Given the description of an element on the screen output the (x, y) to click on. 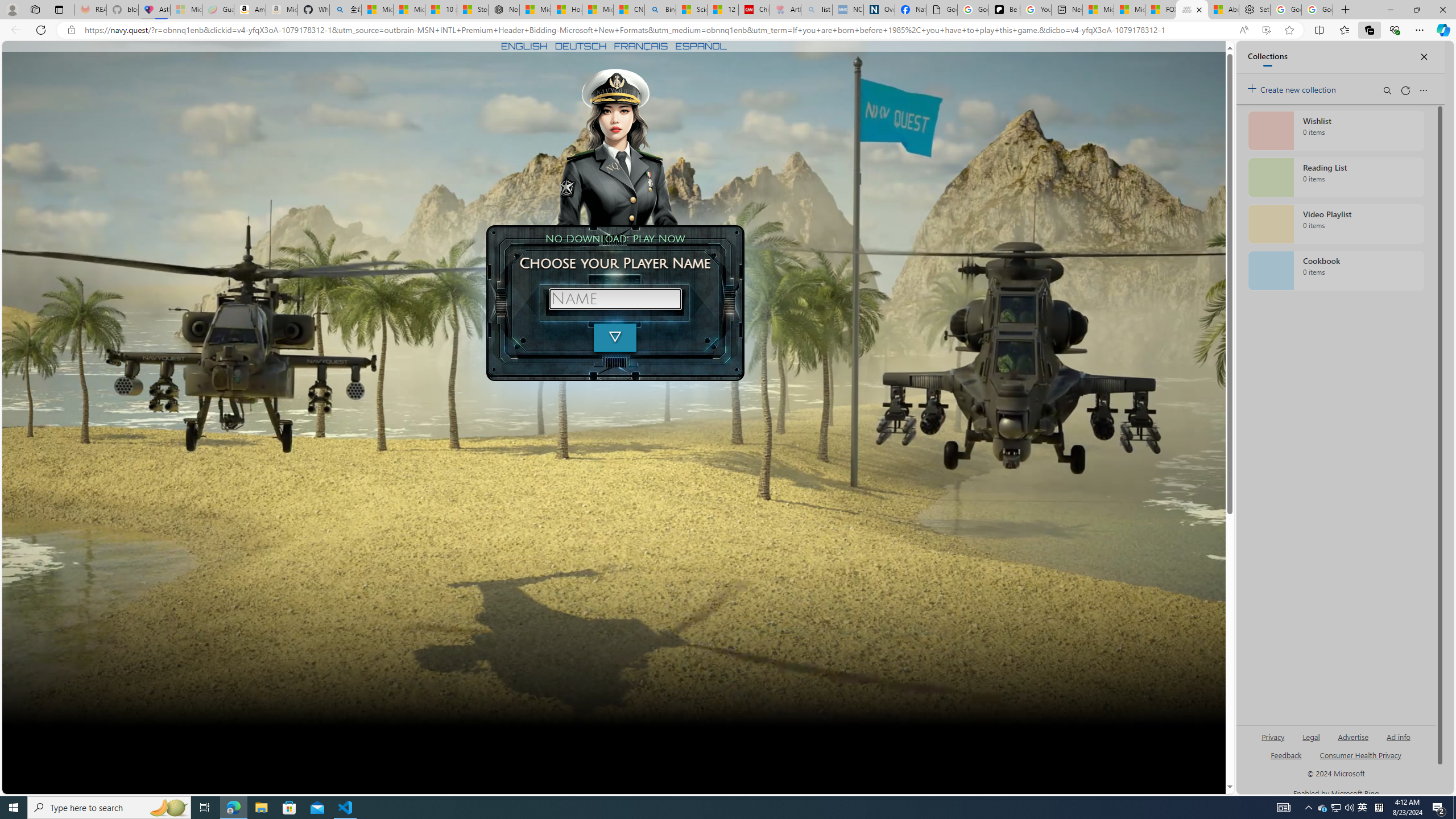
Asthma Inhalers: Names and Types (153, 9)
Name (614, 298)
Address and search bar (658, 29)
NCL Adult Asthma Inhaler Choice Guideline - Sleeping (847, 9)
New Tab (1346, 9)
ENGLISH (523, 45)
New tab (1066, 9)
Settings and more (Alt+F) (1419, 29)
